Given the description of an element on the screen output the (x, y) to click on. 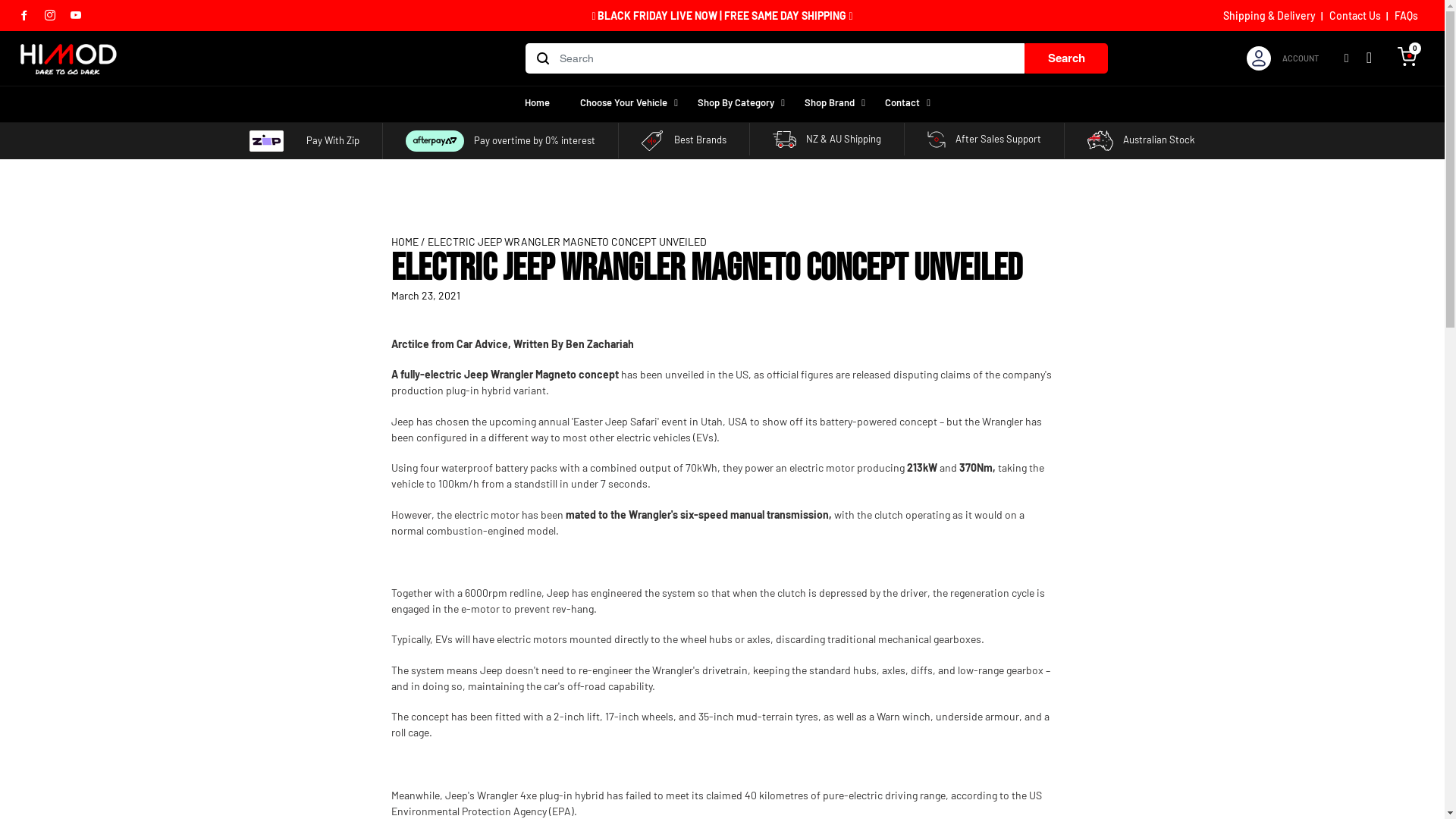
HOME Element type: text (404, 241)
Cart
0 Element type: text (1407, 55)
Choose Your Vehicle Element type: text (623, 102)
Instagram Element type: text (49, 15)
Pay With Zip Element type: text (304, 138)
Wrangler 4xe plug-in hybrid Element type: text (540, 794)
Jeep Element type: text (402, 420)
Contact Element type: text (901, 102)
Facebook Element type: text (23, 15)
FAQs Element type: text (1406, 15)
Shop Brand Element type: text (829, 102)
Shipping & Delivery Element type: text (1269, 15)
ACCOUNT Element type: text (1300, 58)
Home Element type: text (536, 102)
My Wishlist Element type: hover (1368, 58)
Australian Stock Element type: text (1141, 138)
Best Brands Element type: text (683, 138)
Pay overtime by 0% interest Element type: text (500, 138)
YouTube Element type: text (75, 15)
Search Element type: text (1065, 58)
NZ & AU Shipping Element type: text (826, 137)
Shop By Category Element type: text (735, 102)
ELECTRIC JEEP WRANGLER MAGNETO CONCEPT UNVEILED Element type: text (566, 241)
Wrangler Element type: text (1002, 420)
Contact Us Element type: text (1354, 15)
After Sales Support Element type: text (984, 137)
